Given the description of an element on the screen output the (x, y) to click on. 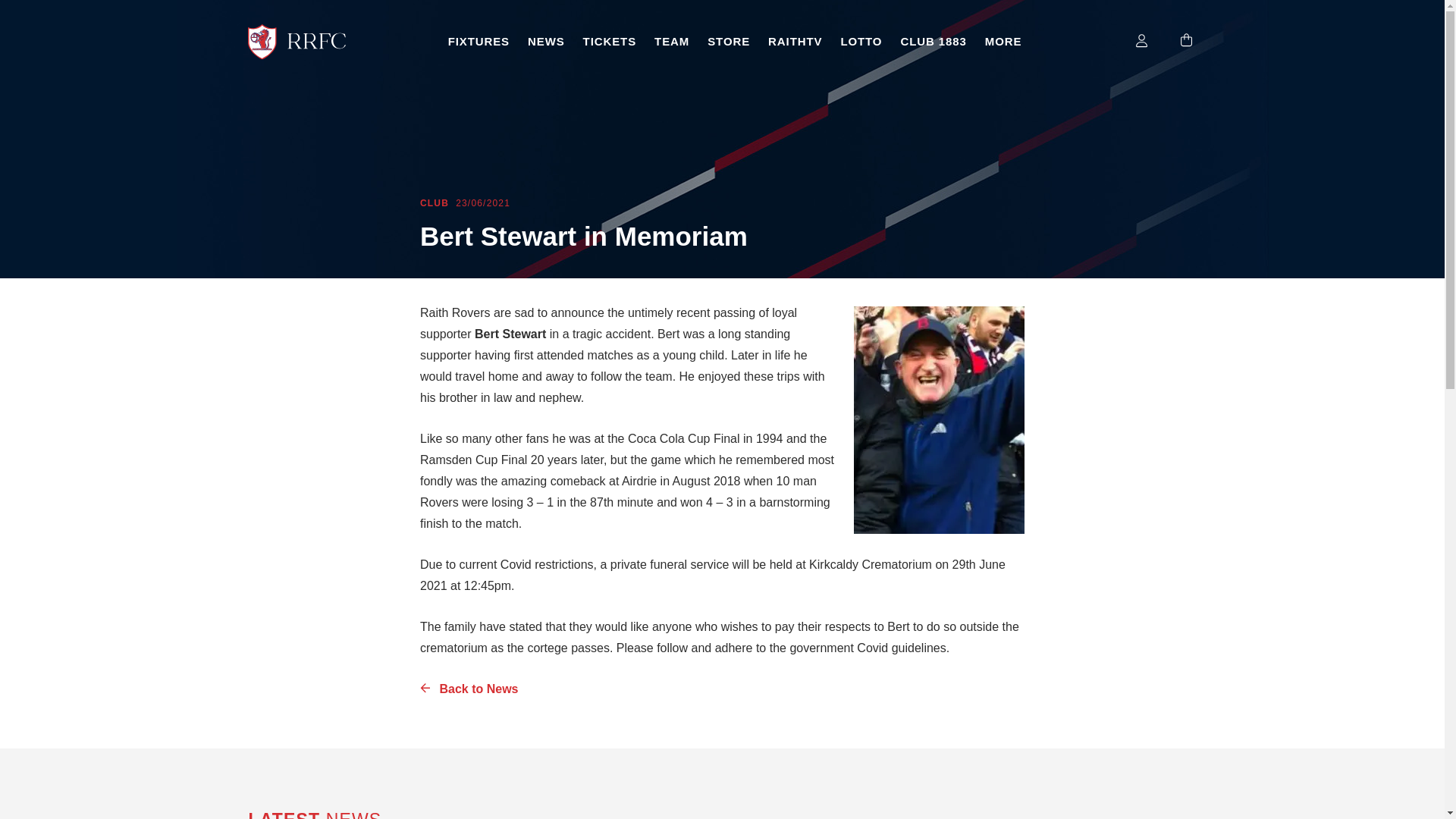
RAITHTV (794, 42)
FIXTURES (478, 42)
CLUB 1883 (933, 42)
TICKETS (609, 42)
